Given the description of an element on the screen output the (x, y) to click on. 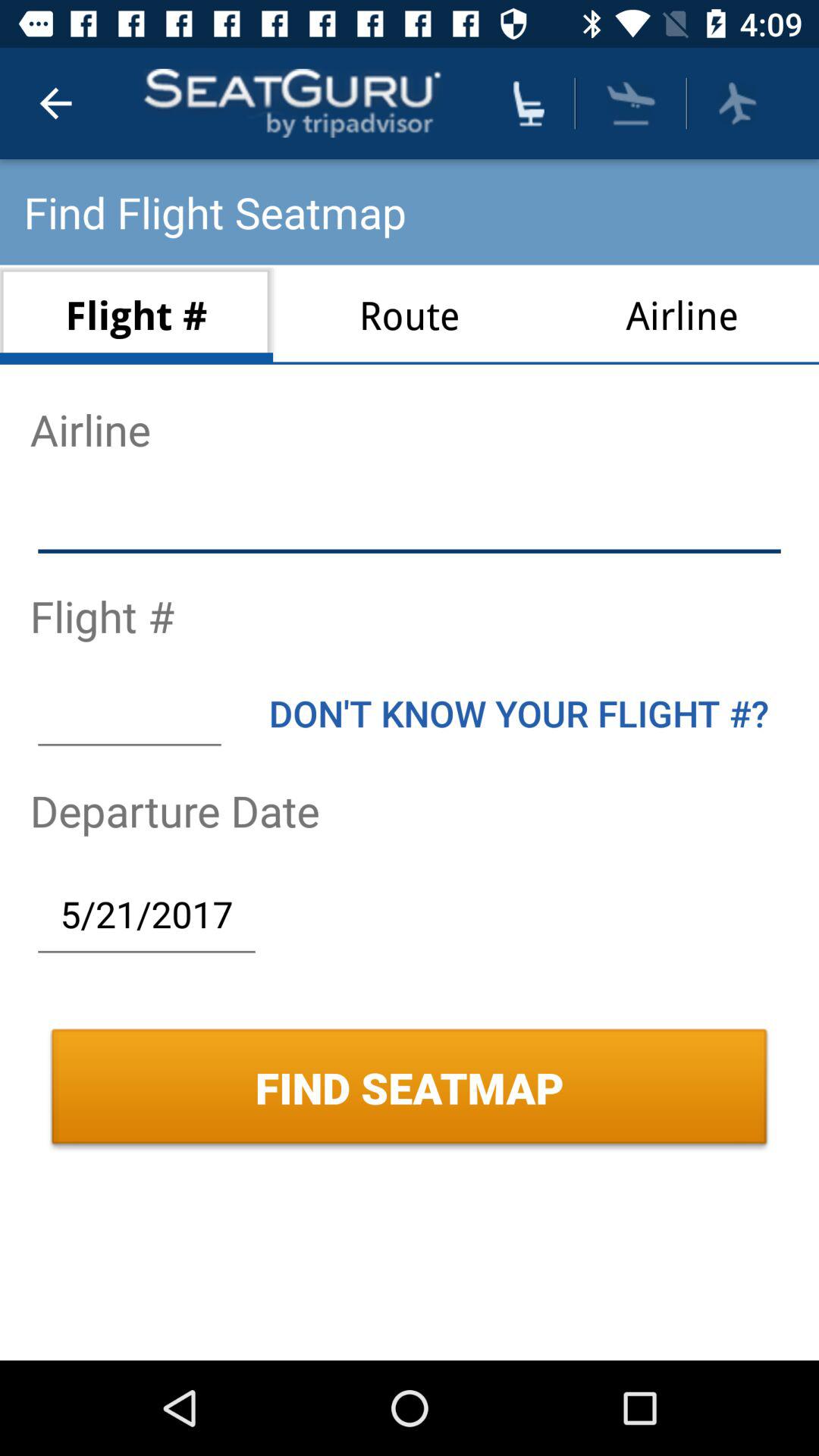
enter airline name (409, 522)
